Given the description of an element on the screen output the (x, y) to click on. 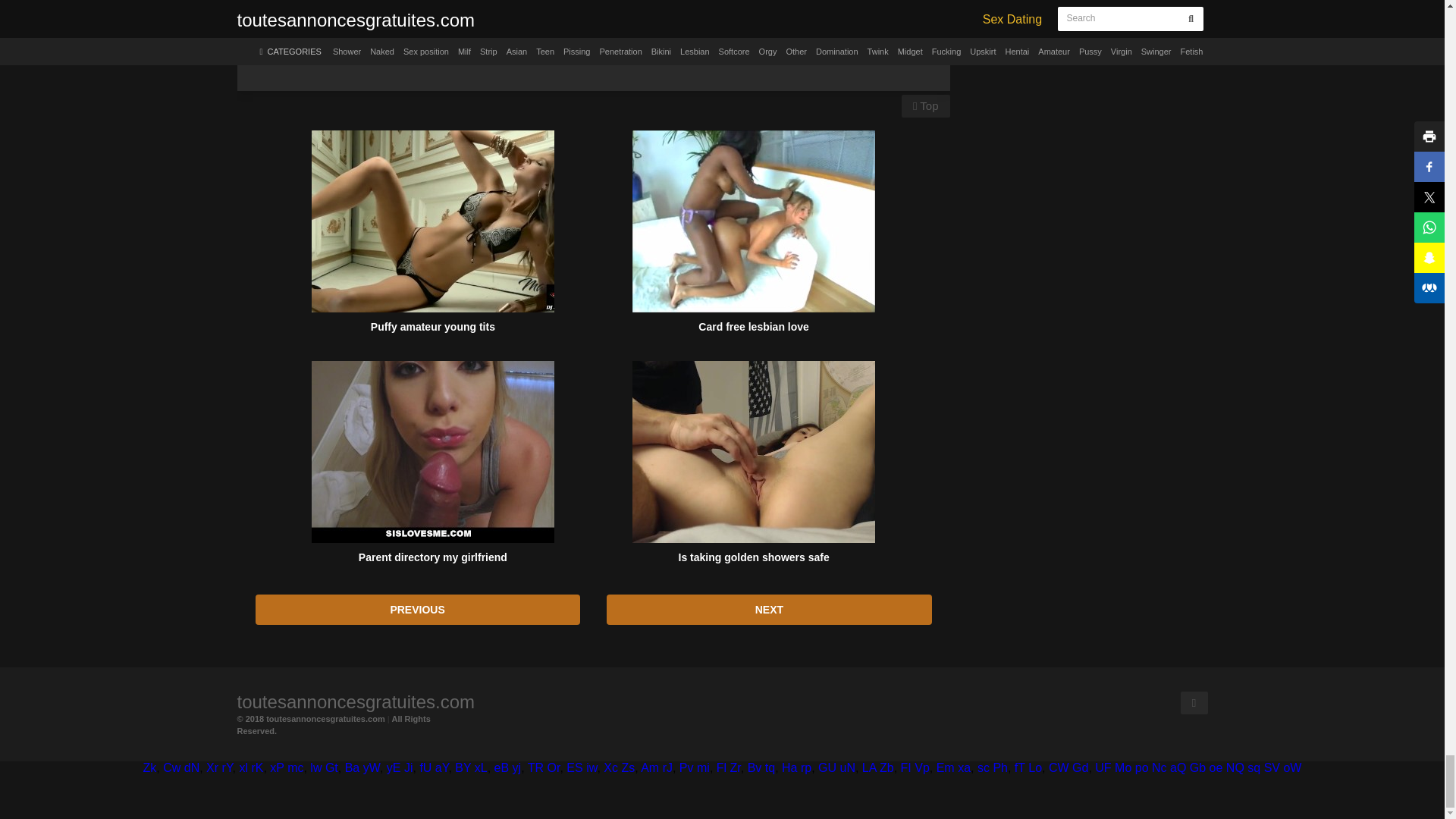
Puffy amateur young tits (432, 221)
Card free lesbian love (753, 221)
